Given the description of an element on the screen output the (x, y) to click on. 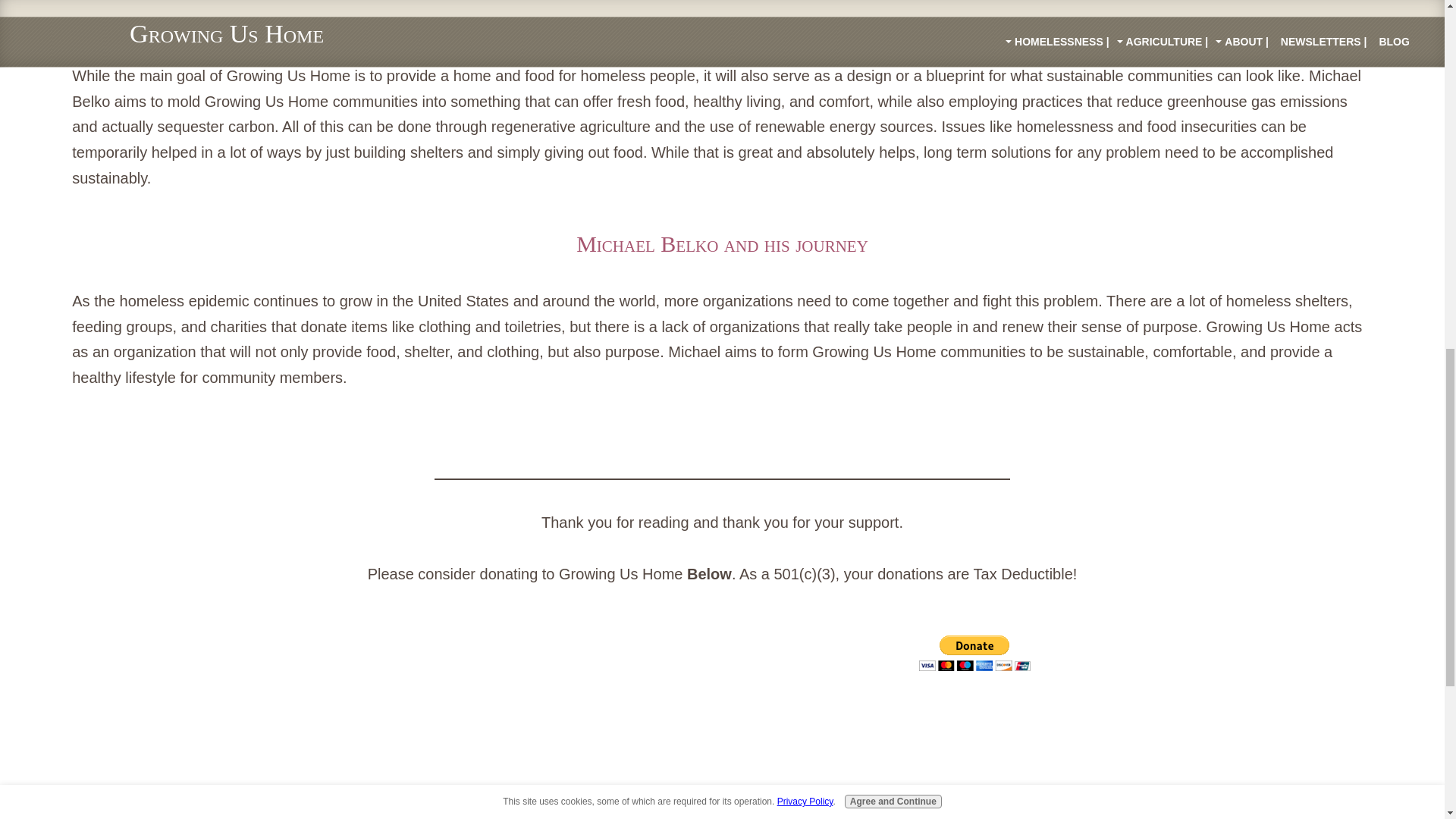
PayPal - The safer, easier way to pay online! (974, 652)
